Given the description of an element on the screen output the (x, y) to click on. 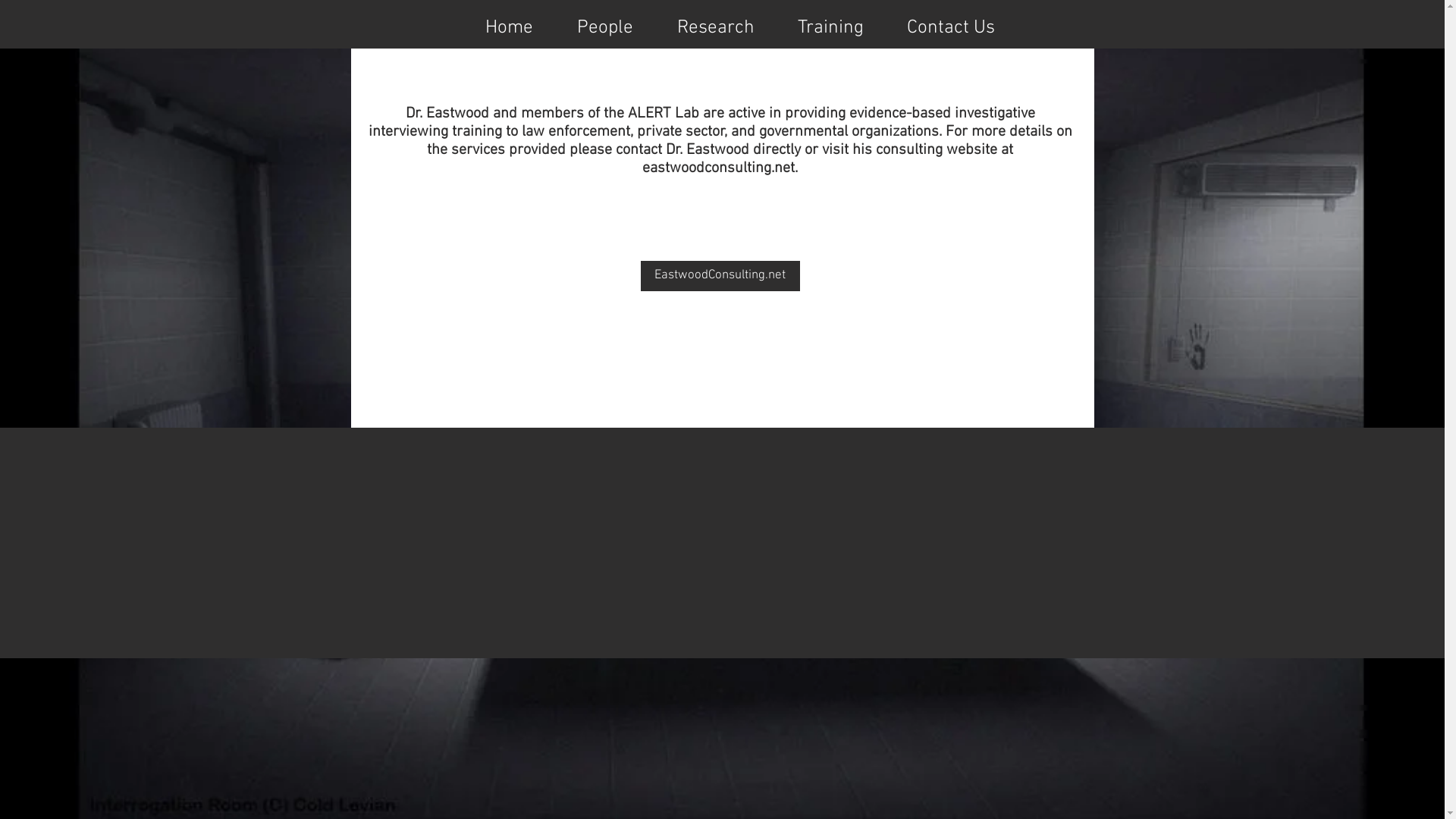
People Element type: text (605, 24)
Home Element type: text (508, 24)
Research Element type: text (715, 24)
Training Element type: text (830, 24)
EastwoodConsulting.net Element type: text (719, 275)
Contact Us Element type: text (950, 24)
